Given the description of an element on the screen output the (x, y) to click on. 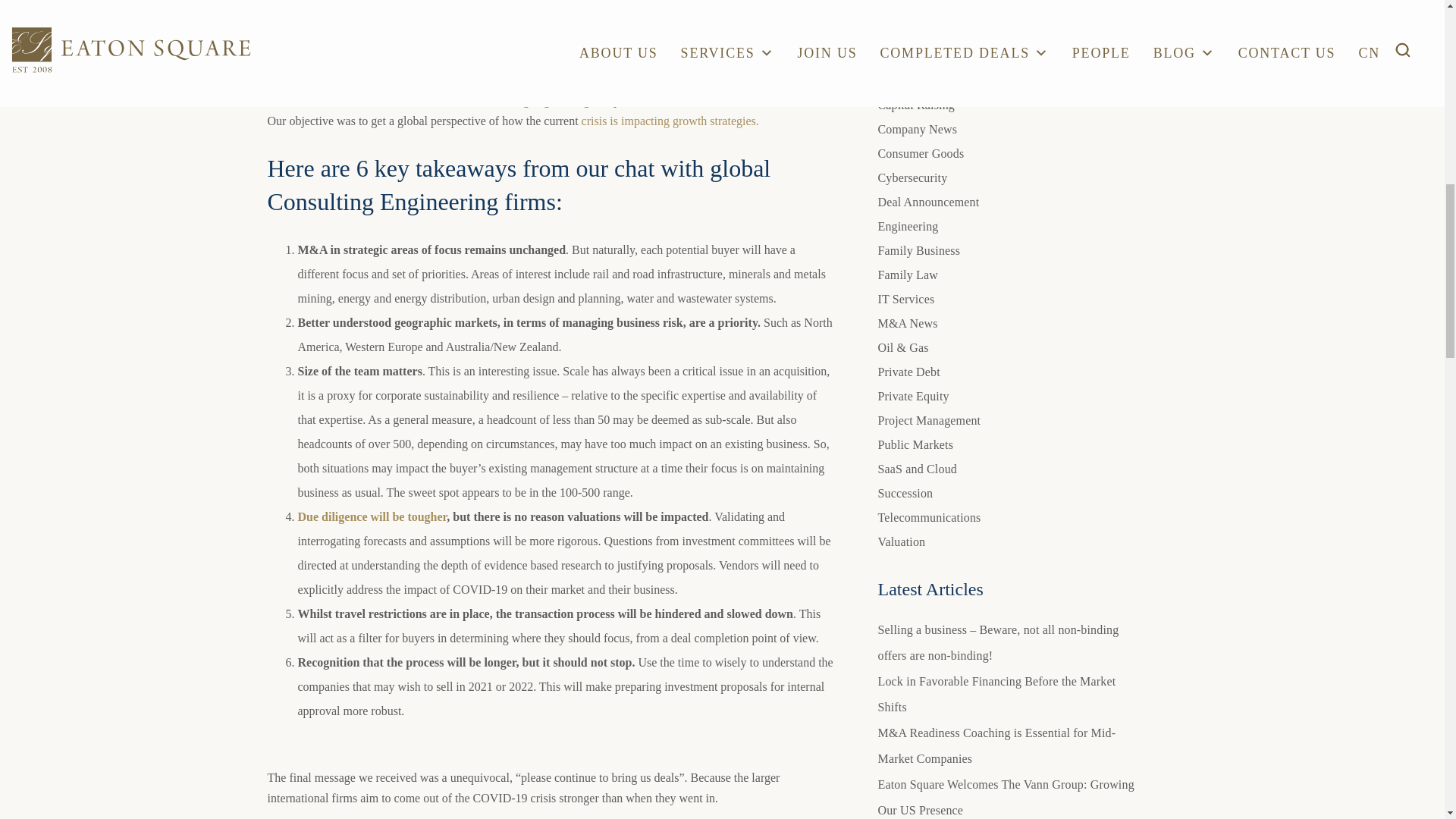
Warren Riddell (576, 49)
crisis is impacting growth strategies. (669, 120)
Due diligence will be tougher (371, 516)
Engineering (661, 49)
